Given the description of an element on the screen output the (x, y) to click on. 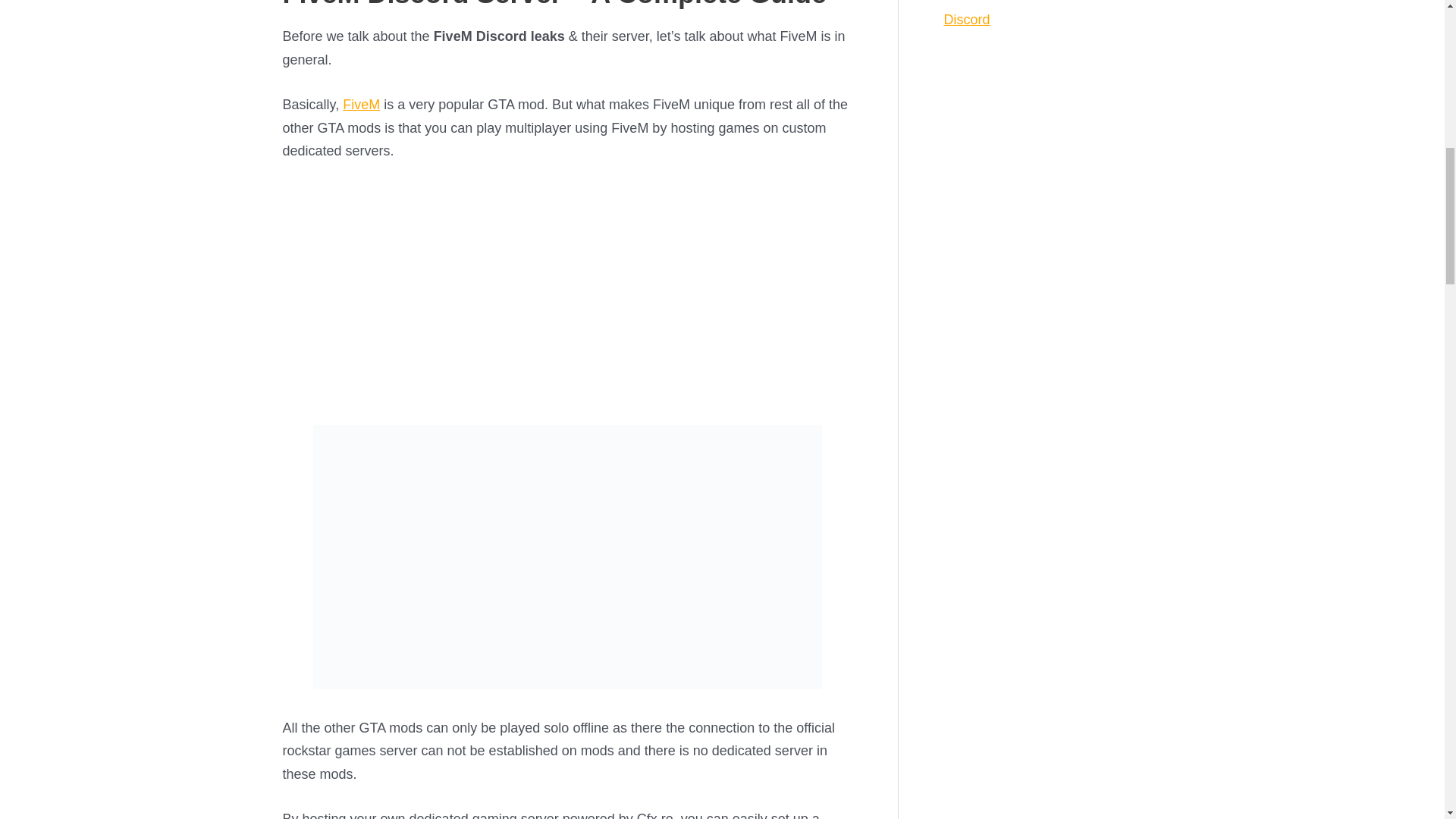
FiveM (361, 104)
Advertisement (566, 291)
